Given the description of an element on the screen output the (x, y) to click on. 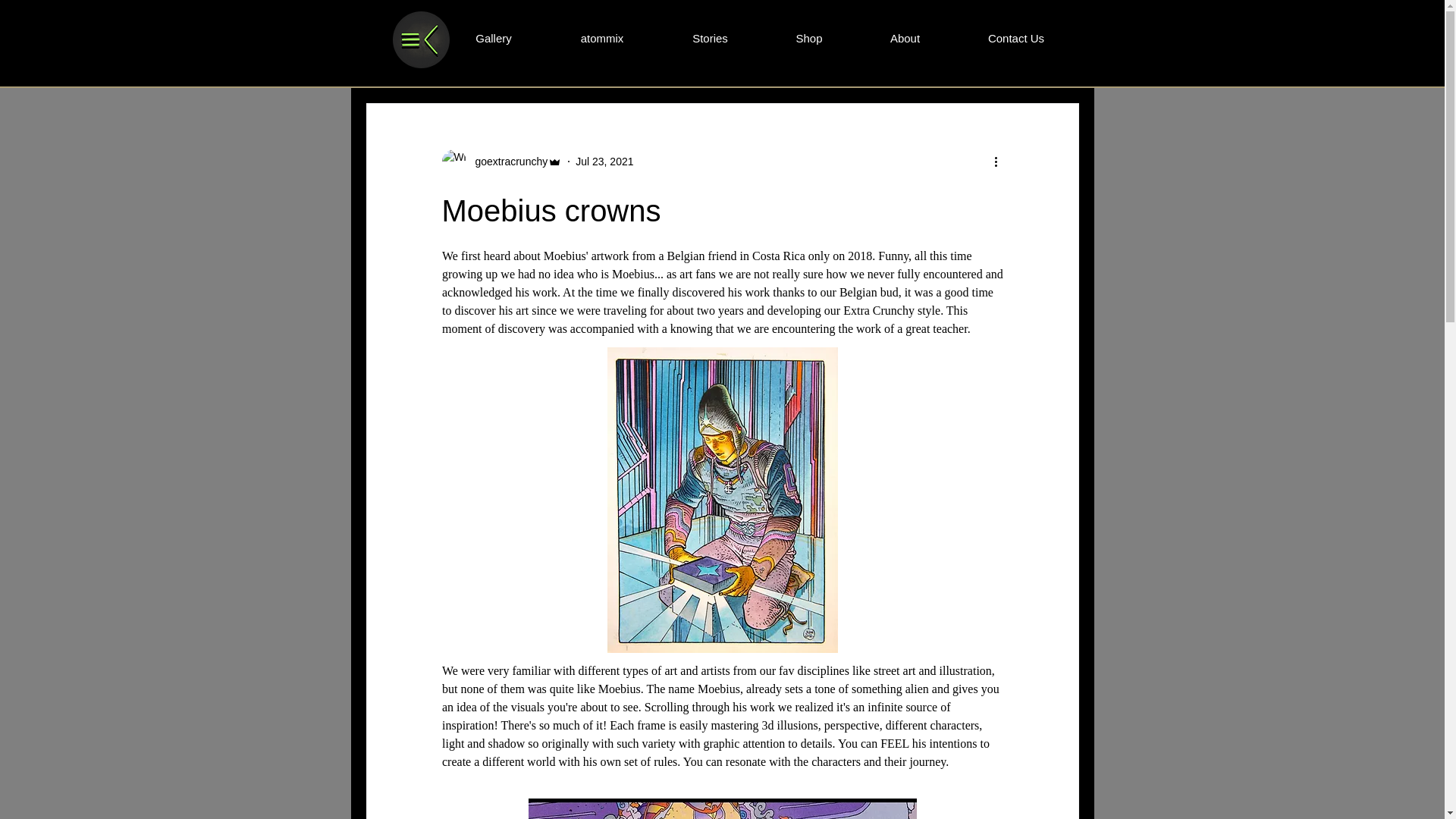
About (905, 38)
Jul 23, 2021 (604, 160)
goextracrunchy (501, 161)
Shop (808, 38)
Contact Us (1015, 38)
goextracrunchy (506, 160)
atommix (602, 38)
Stories (709, 38)
